Given the description of an element on the screen output the (x, y) to click on. 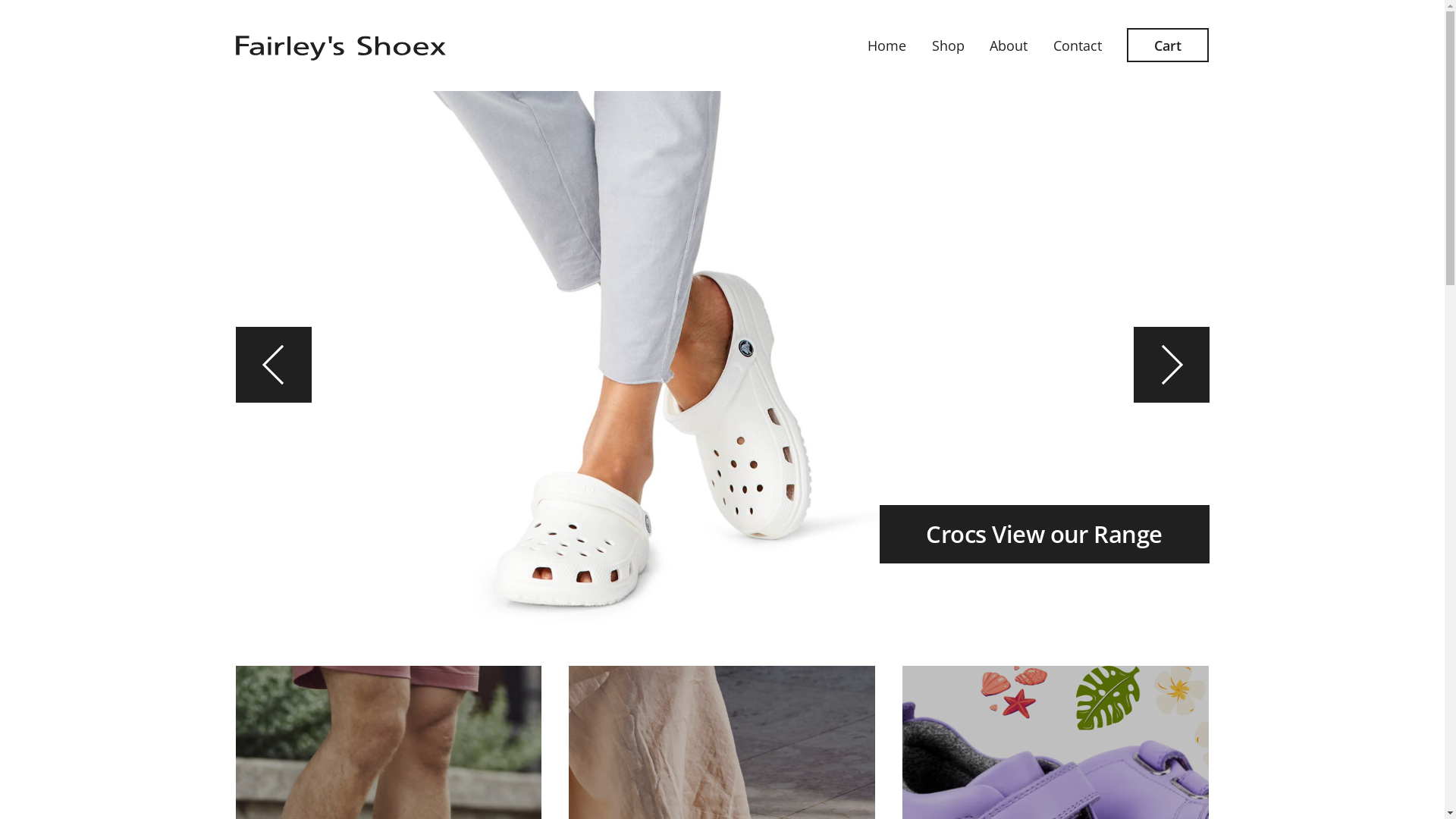
Shop Element type: text (1338, 193)
Home Element type: text (886, 45)
About Element type: text (1338, 229)
Home Element type: text (1338, 157)
Shop Element type: text (947, 45)
Contact Element type: text (1338, 265)
Contact Element type: text (1077, 45)
Cart Element type: text (1167, 45)
Privacy Element type: text (1388, 759)
About Element type: text (1008, 45)
CONVERSE  Element type: text (1092, 540)
